Given the description of an element on the screen output the (x, y) to click on. 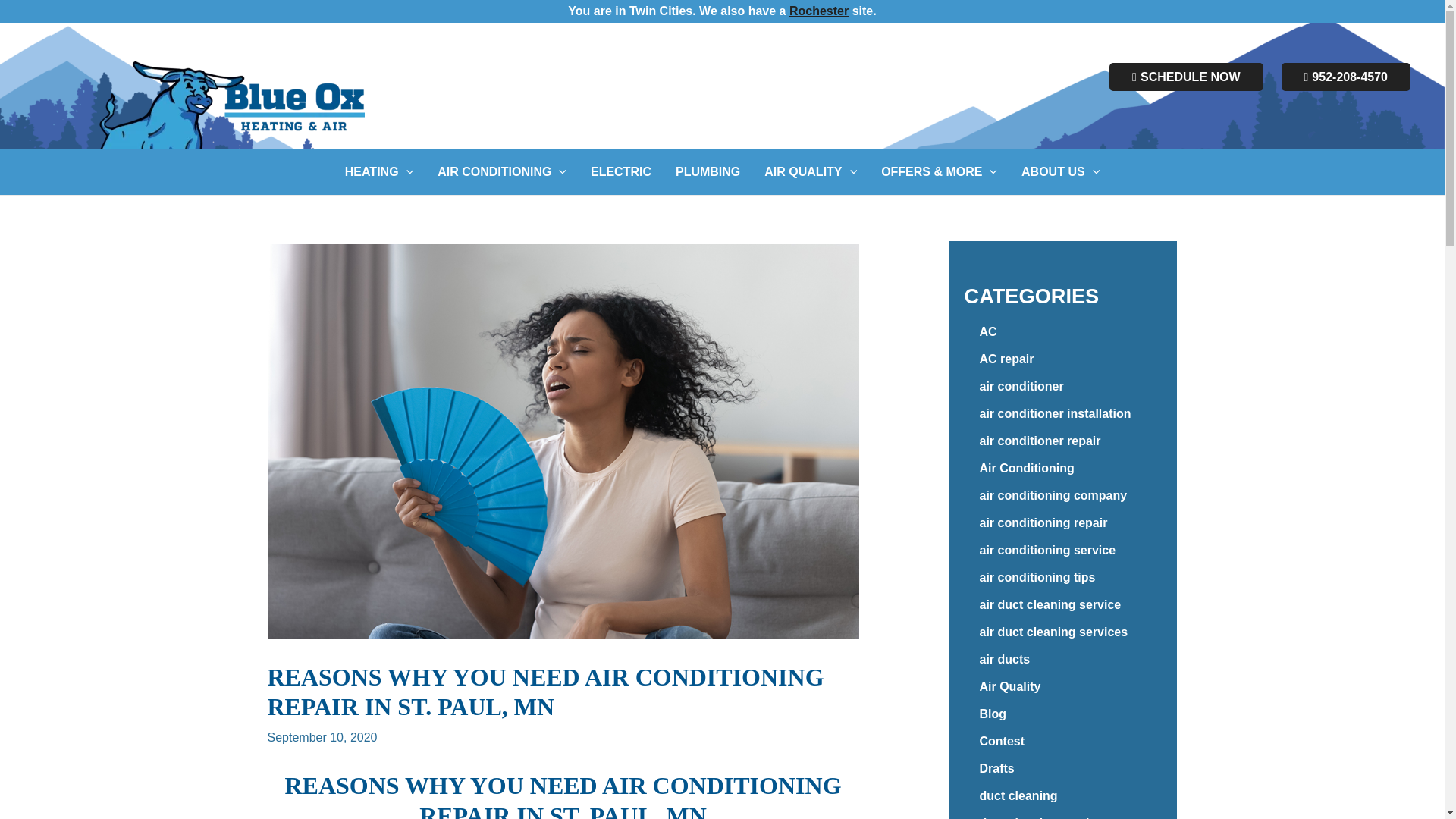
HEATING (379, 171)
ELECTRIC (620, 171)
952-208-4570 (1345, 76)
SCHEDULE NOW (1185, 76)
PLUMBING (707, 171)
AIR QUALITY (810, 171)
Rochester (818, 10)
AIR CONDITIONING (501, 171)
